Given the description of an element on the screen output the (x, y) to click on. 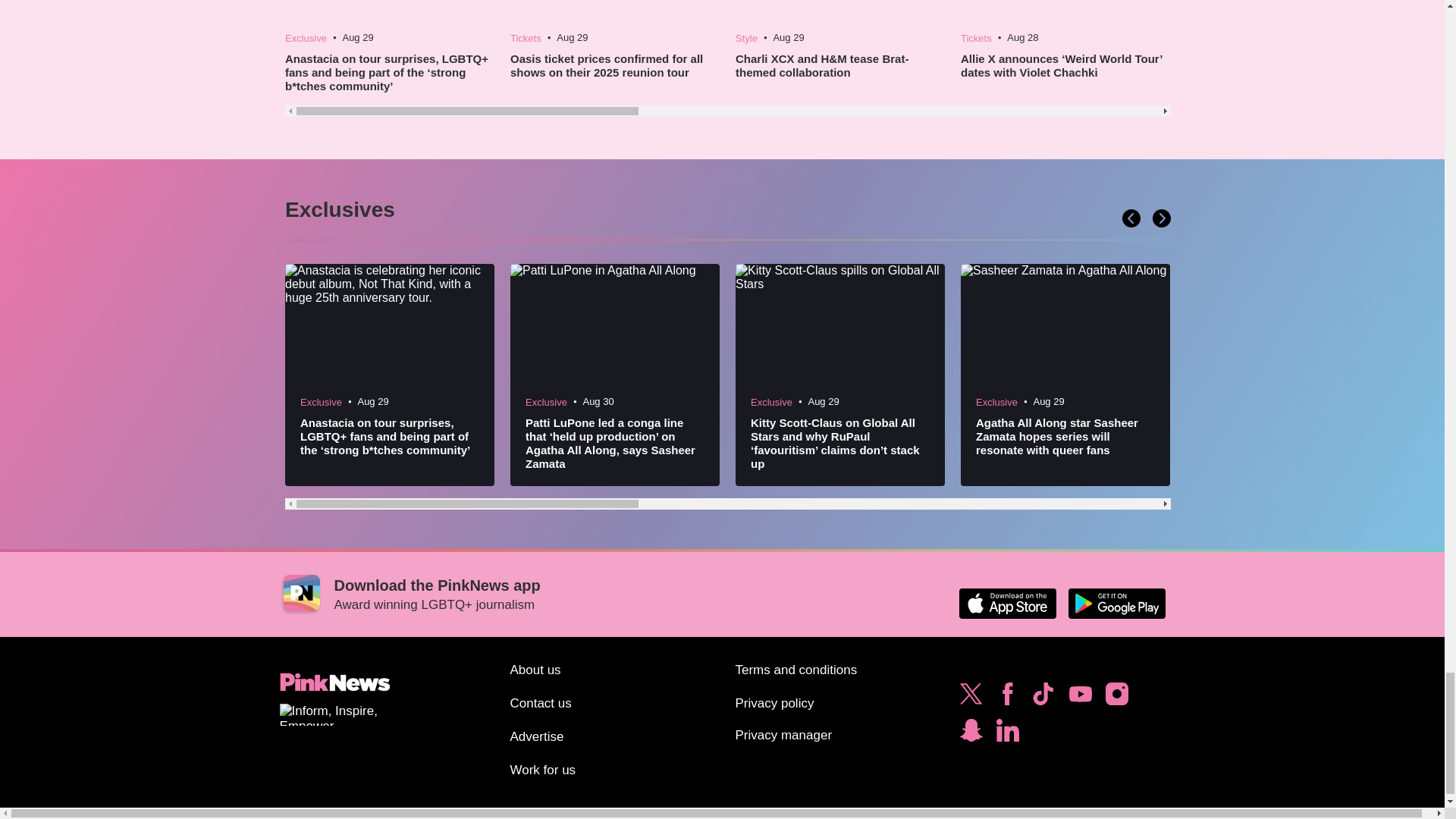
Follow PinkNews on Instagram (1116, 697)
Subscribe to PinkNews on YouTube (1079, 697)
Follow PinkNews on Twitter (970, 697)
Download the PinkNews app on the Apple App Store (1006, 603)
Follow PinkNews on TikTok (1042, 697)
Download the PinkNews app on Google Play (1115, 603)
Follow PinkNews on LinkedIn (1007, 733)
Subscribe to PinkNews on Snapchat (970, 733)
